Given the description of an element on the screen output the (x, y) to click on. 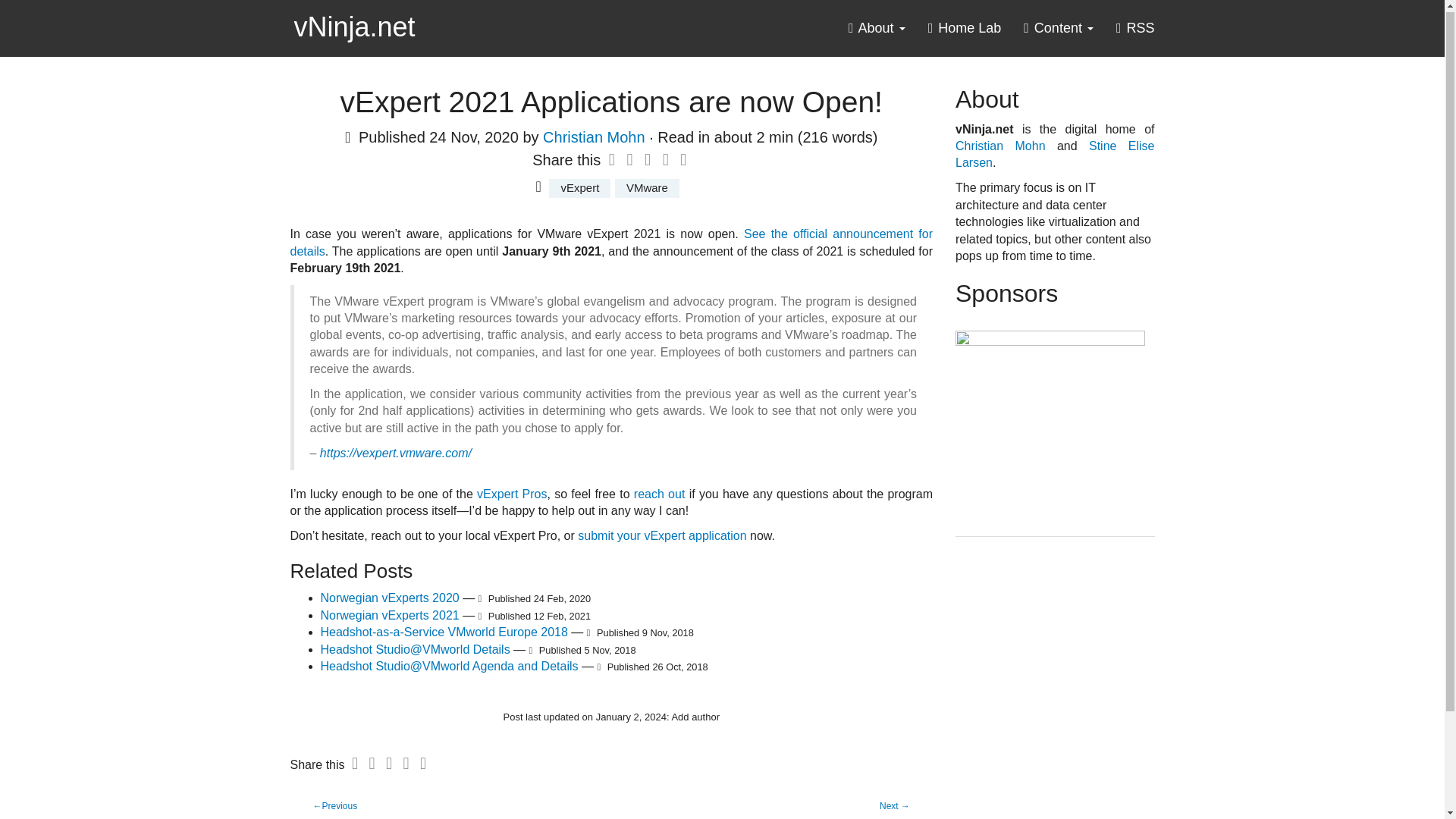
Christian Mohn (594, 136)
reach out (659, 493)
Norwegian vExperts 2020 (389, 597)
vNinja.net (354, 19)
VMware (646, 188)
Content (1058, 31)
About (877, 31)
Hostifi (1049, 425)
RSS (1135, 31)
